Given the description of an element on the screen output the (x, y) to click on. 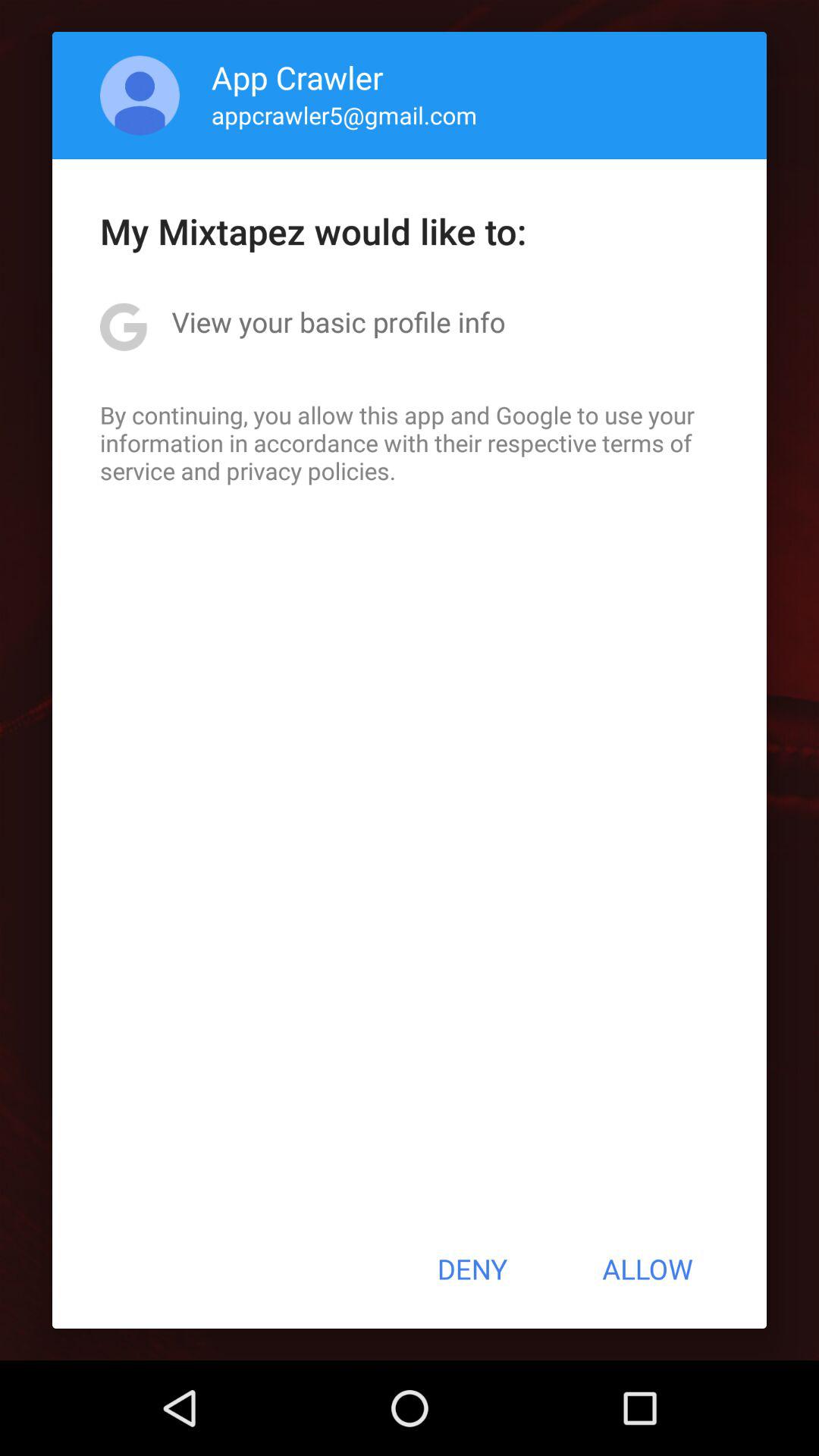
turn on the icon to the left of the app crawler item (139, 95)
